Given the description of an element on the screen output the (x, y) to click on. 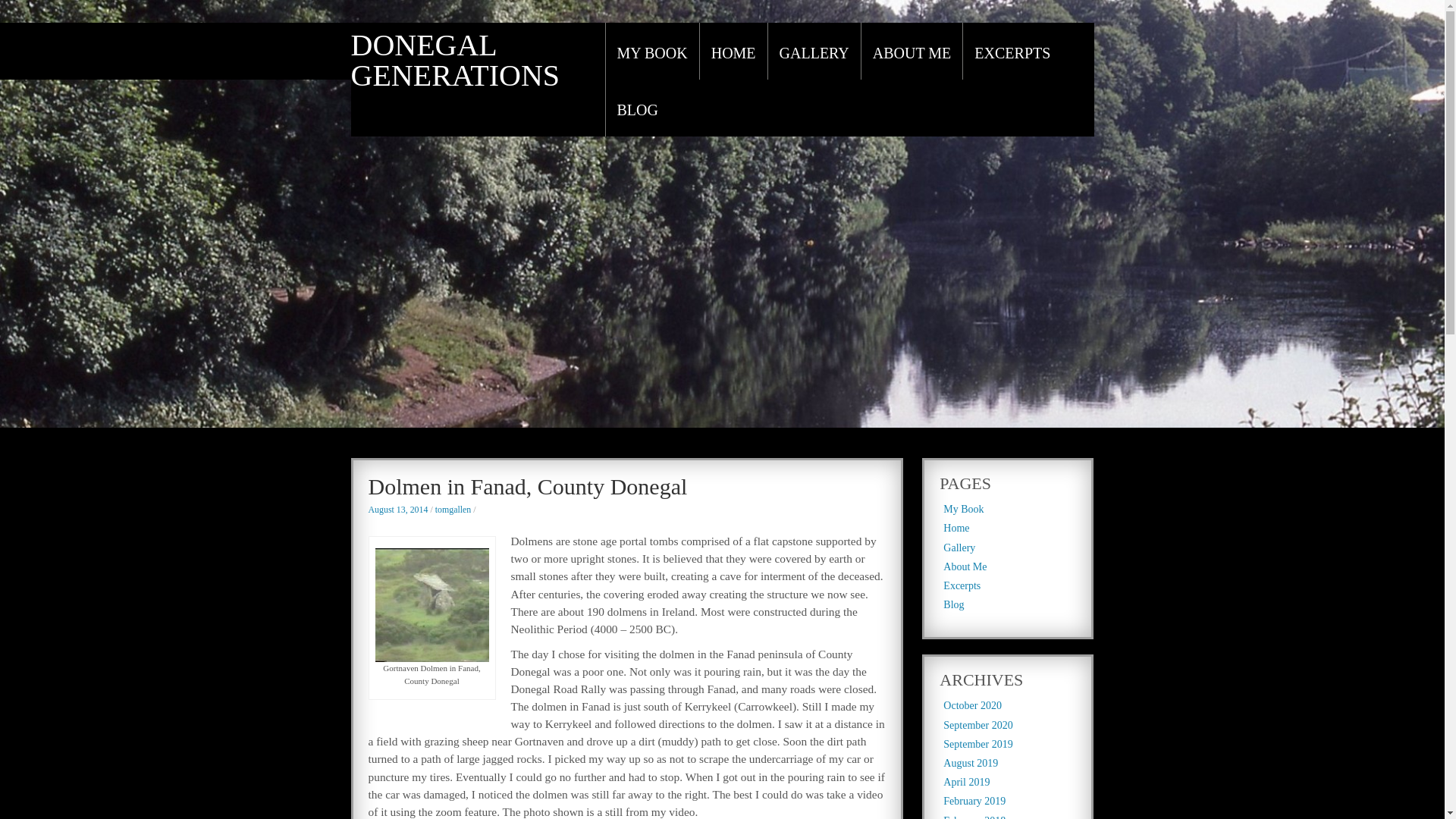
Excerpts (961, 585)
ABOUT ME (912, 52)
August 13, 2014 (398, 509)
MY BOOK (652, 52)
Permalink to Dolmen in Fanad, County Donegal (527, 486)
About Me (965, 566)
9:45 pm (398, 509)
February 2018 (974, 816)
Blog (953, 604)
HOME (733, 52)
September 2019 (977, 744)
EXCERPTS (1011, 52)
View all posts by tomgallen (453, 509)
DONEGAL GENERATIONS (454, 59)
April 2019 (966, 781)
